Given the description of an element on the screen output the (x, y) to click on. 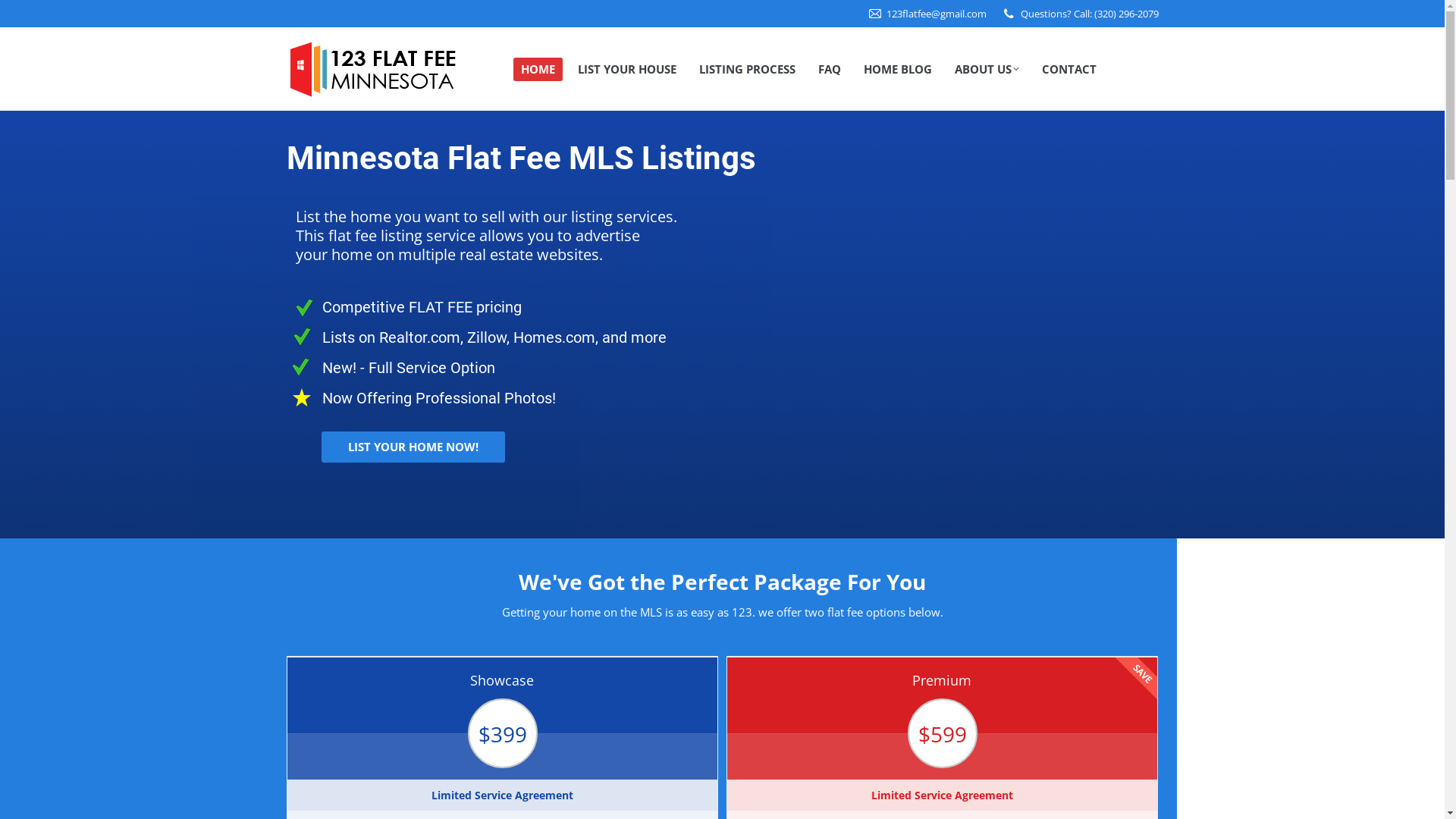
CONTACT Element type: text (1069, 69)
LISTING PROCESS Element type: text (747, 69)
ABOUT US Element type: text (986, 69)
HOME Element type: text (536, 69)
LIST YOUR HOME NOW! Element type: text (413, 446)
FAQ Element type: text (828, 69)
LIST YOUR HOUSE Element type: text (627, 69)
HOME BLOG Element type: text (896, 69)
